Given the description of an element on the screen output the (x, y) to click on. 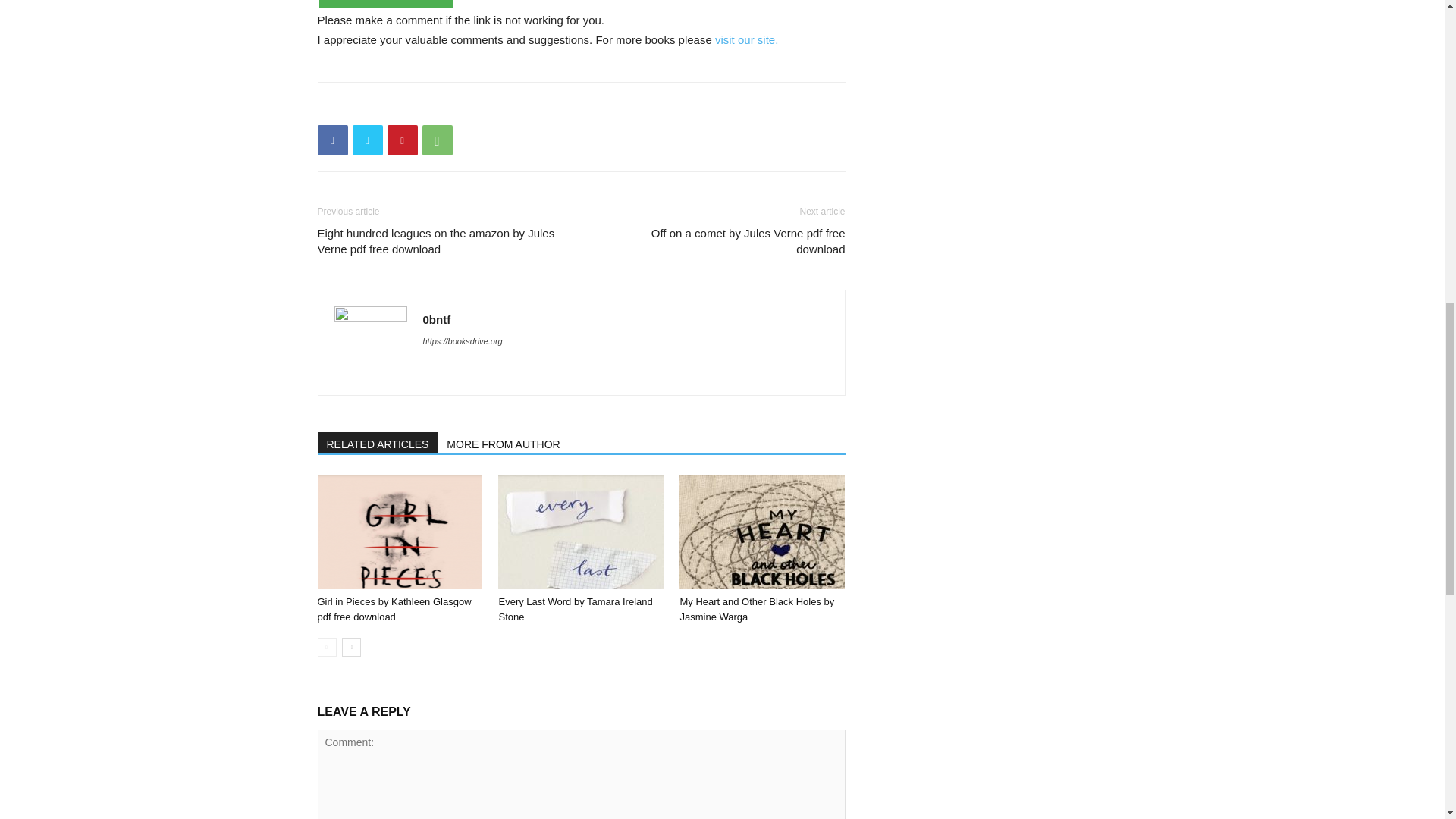
Facebook (332, 140)
Pinterest (401, 140)
bottomFacebookLike (430, 106)
Twitter (366, 140)
Girl in Pieces by Kathleen Glasgow pdf free download (399, 531)
WhatsApp (436, 140)
Girl in Pieces by Kathleen Glasgow pdf free download (393, 609)
